Given the description of an element on the screen output the (x, y) to click on. 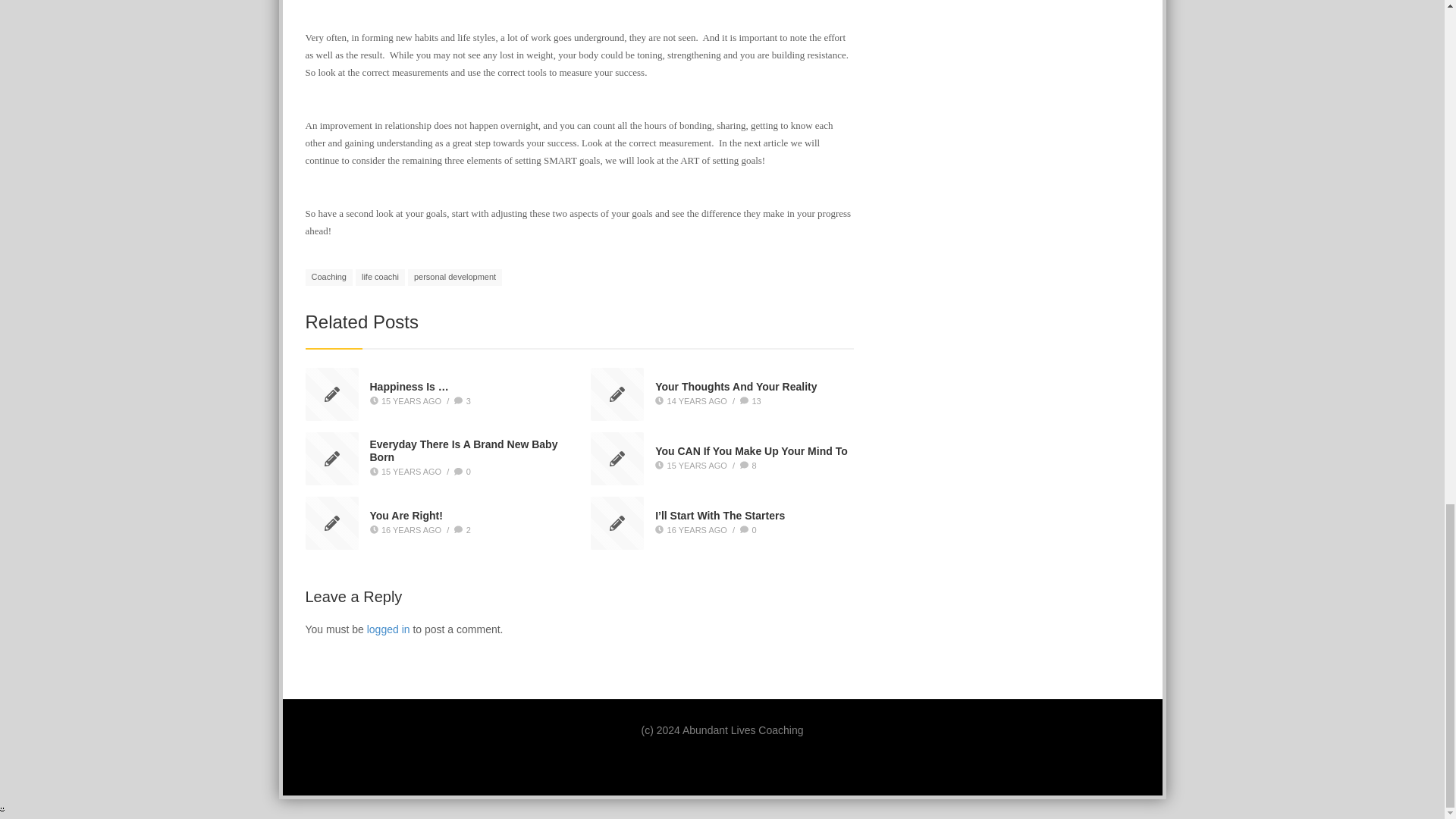
Your Thoughts And Your Reality (735, 386)
life coachi (379, 277)
Everyday There Is A Brand New Baby Born (463, 451)
You Are Right! (405, 515)
personal development (454, 277)
Coaching (328, 277)
Everyday There Is A Brand New Baby Born (463, 451)
You CAN If You Make Up Your Mind To (751, 451)
You CAN If You Make Up Your Mind To (751, 451)
Your Thoughts And Your Reality (735, 386)
